Given the description of an element on the screen output the (x, y) to click on. 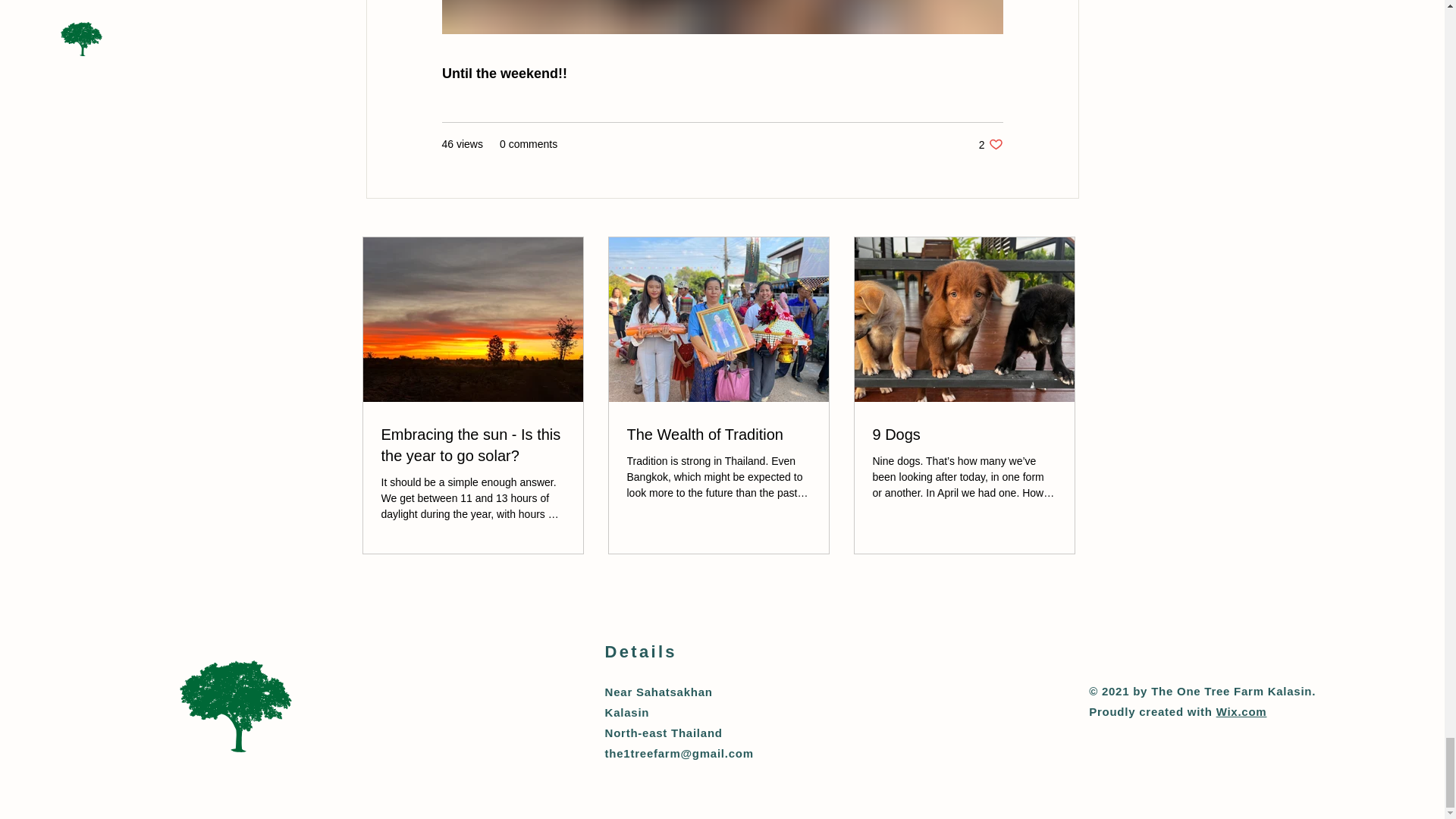
9 Dogs (963, 434)
Wix.com (990, 144)
The Wealth of Tradition (1240, 711)
Embracing the sun - Is this the year to go solar? (717, 434)
